Given the description of an element on the screen output the (x, y) to click on. 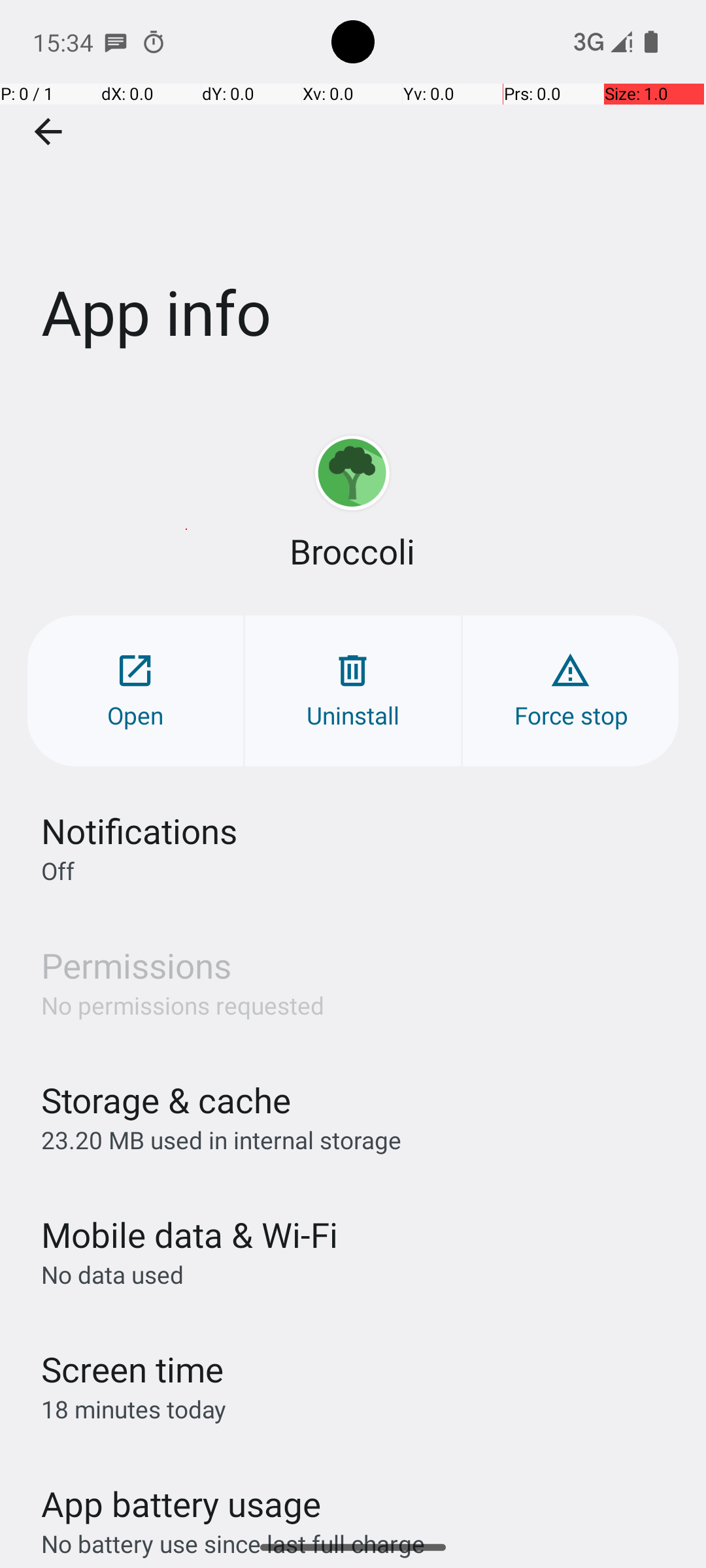
No permissions requested Element type: android.widget.TextView (182, 1004)
23.20 MB used in internal storage Element type: android.widget.TextView (221, 1139)
18 minutes today Element type: android.widget.TextView (133, 1408)
